Given the description of an element on the screen output the (x, y) to click on. 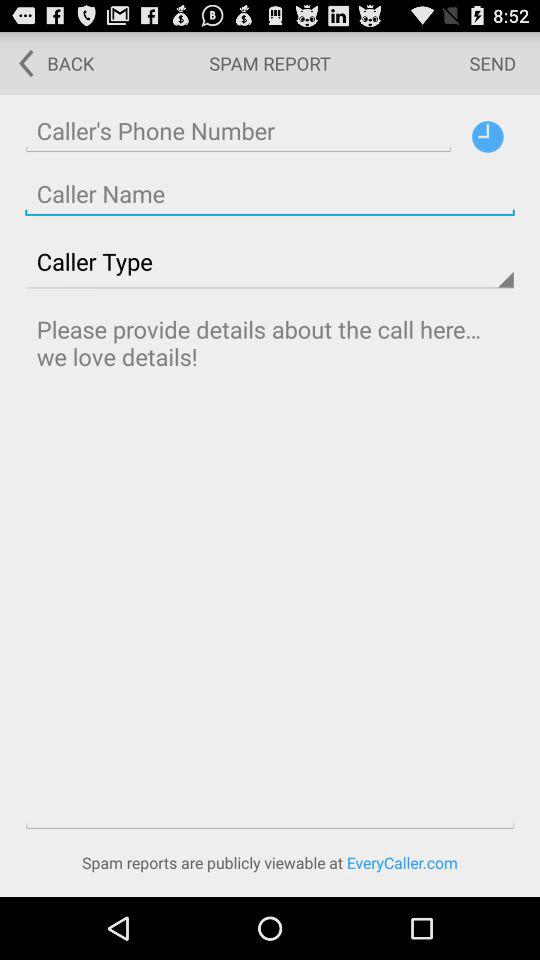
caller 's phone number create line (238, 130)
